Given the description of an element on the screen output the (x, y) to click on. 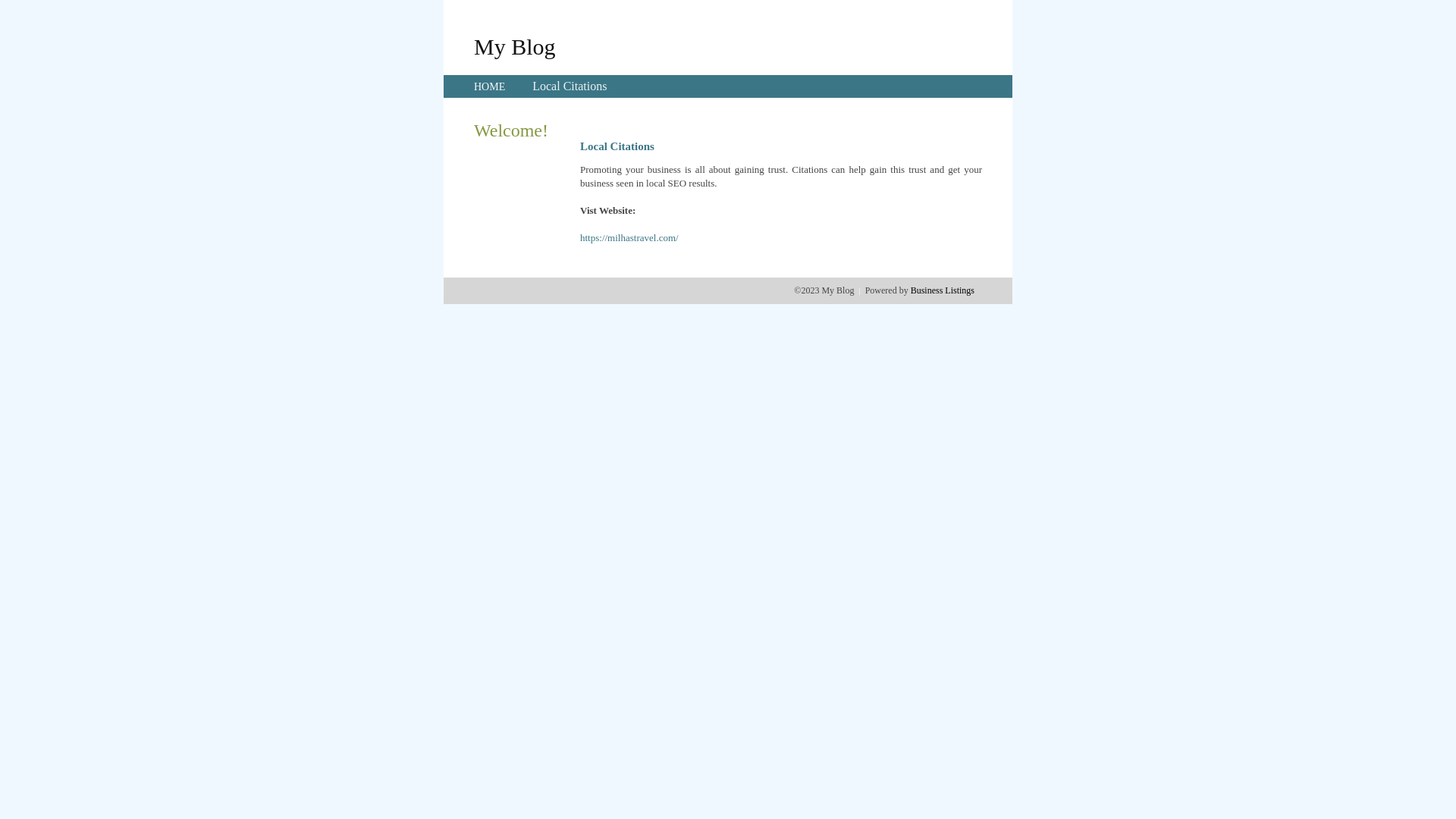
Local Citations Element type: text (569, 85)
My Blog Element type: text (514, 46)
HOME Element type: text (489, 86)
https://milhastravel.com/ Element type: text (629, 237)
Business Listings Element type: text (942, 290)
